Given the description of an element on the screen output the (x, y) to click on. 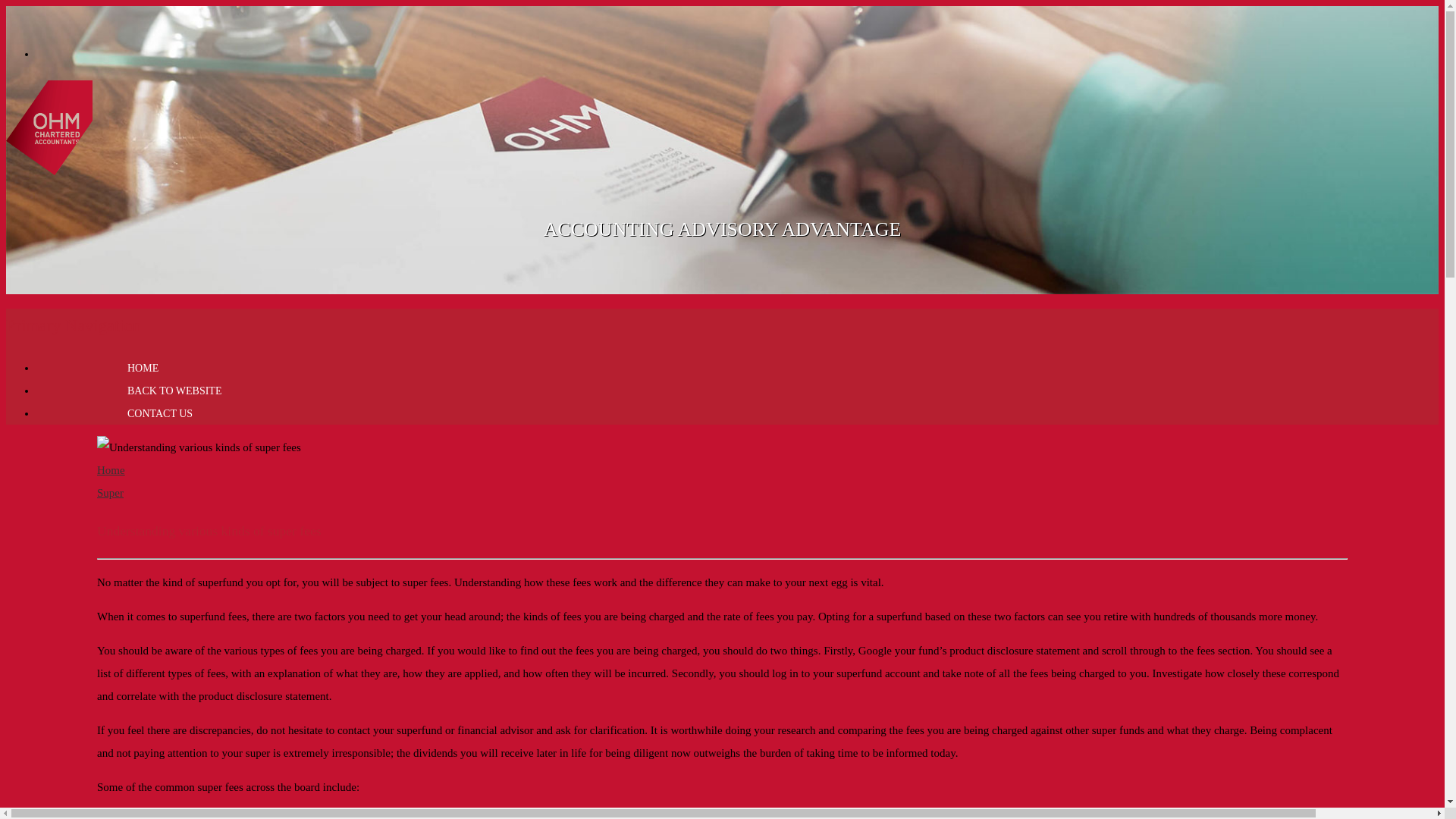
Super Element type: text (110, 492)
CONTACT US Element type: text (159, 413)
Articles Element type: hover (49, 166)
HOME Element type: text (142, 367)
BACK TO WEBSITE Element type: text (173, 390)
Home Element type: text (111, 470)
